Given the description of an element on the screen output the (x, y) to click on. 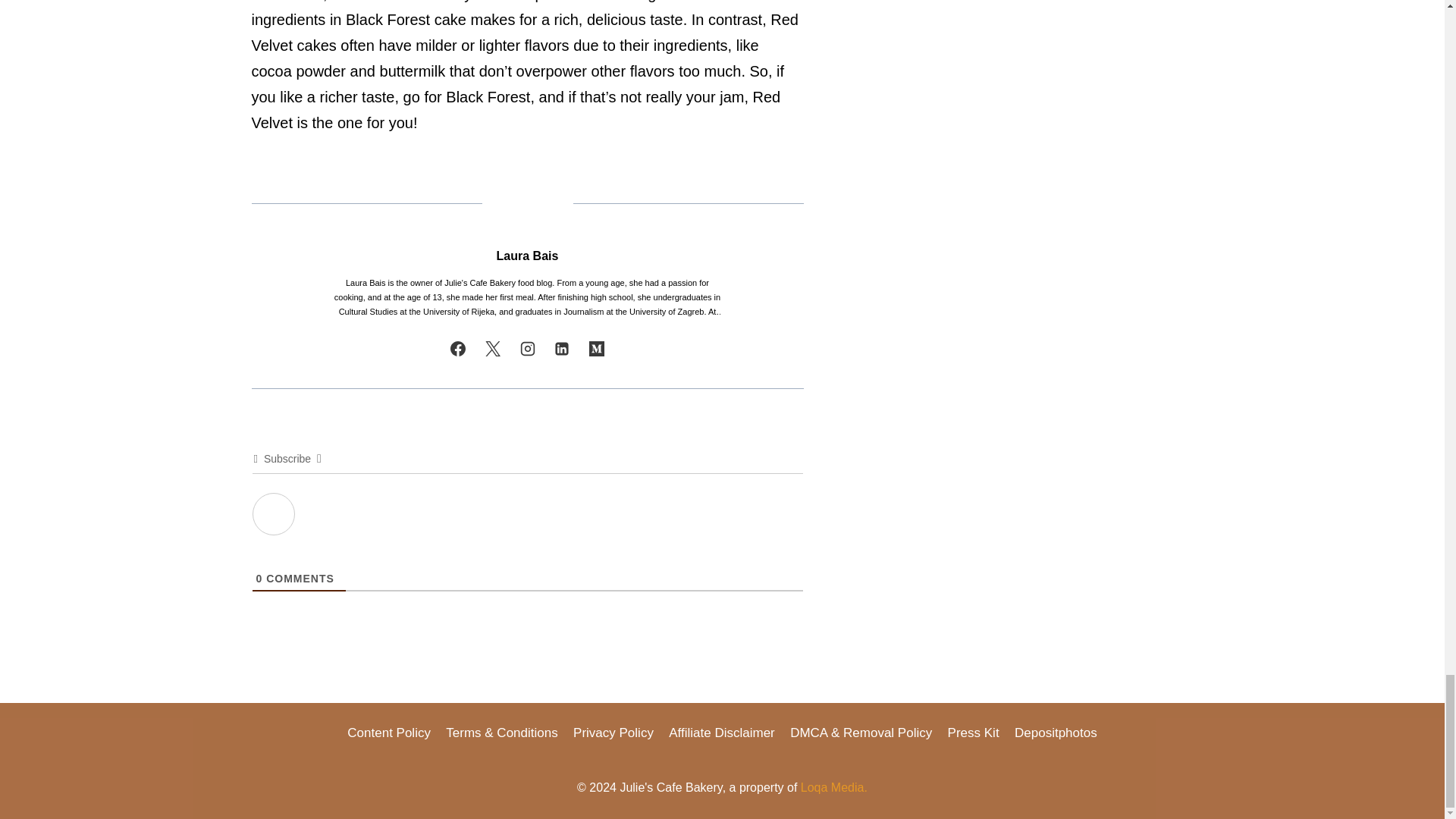
Follow Laura Bais on Linkedin (561, 348)
Follow Laura Bais on Medium (595, 348)
Follow Laura Bais on Facebook (457, 348)
Follow Laura Bais on X formerly Twitter (492, 348)
Posts by Laura Bais (527, 255)
Incomera d.o.o. (833, 787)
Follow Laura Bais on Instagram (527, 348)
